Given the description of an element on the screen output the (x, y) to click on. 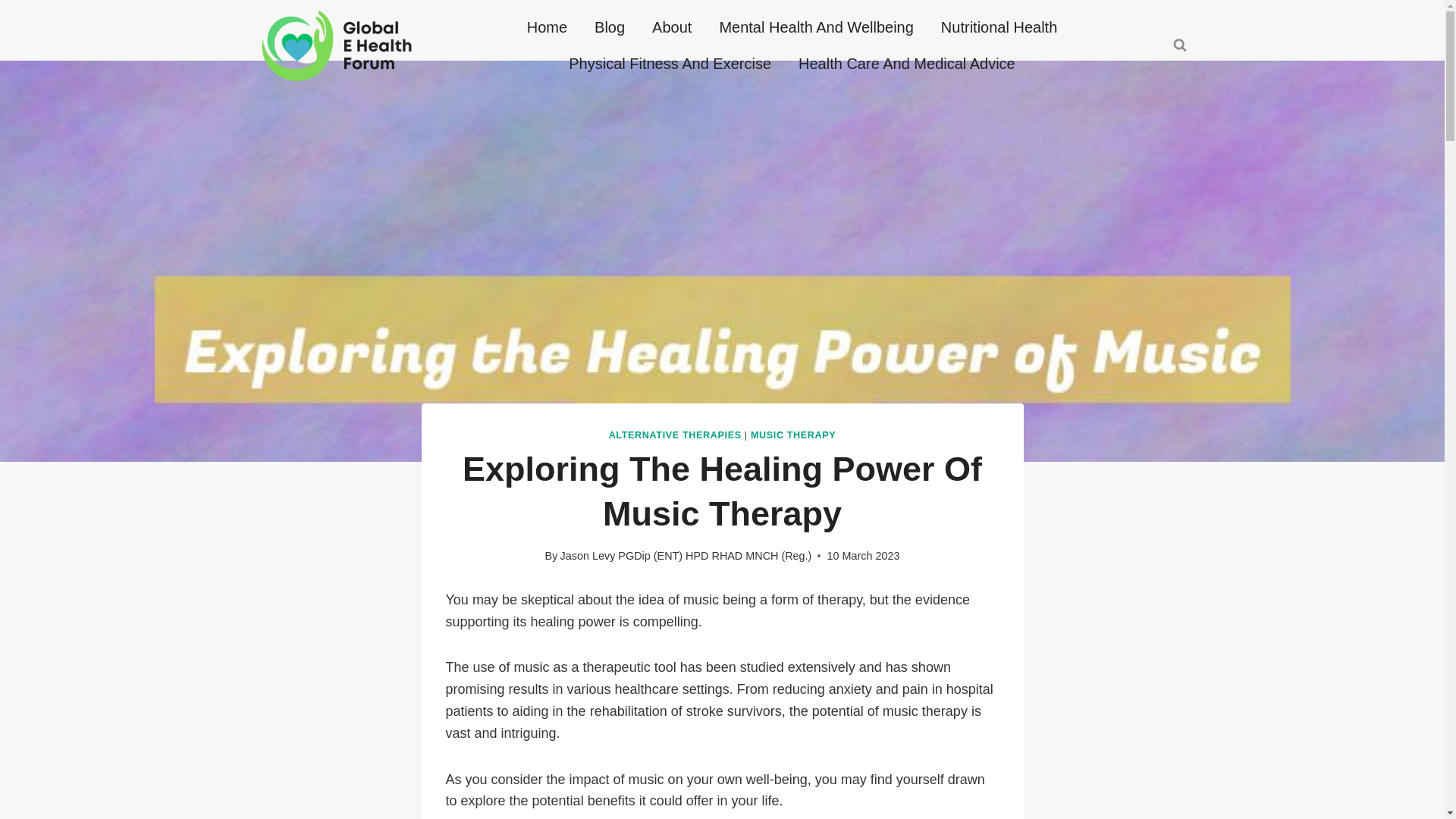
Mental Health And Wellbeing (815, 27)
Nutritional Health (998, 27)
MUSIC THERAPY (793, 434)
Blog (609, 27)
Home (546, 27)
About (671, 27)
Physical Fitness And Exercise (669, 63)
Health Care And Medical Advice (906, 63)
ALTERNATIVE THERAPIES (674, 434)
